Given the description of an element on the screen output the (x, y) to click on. 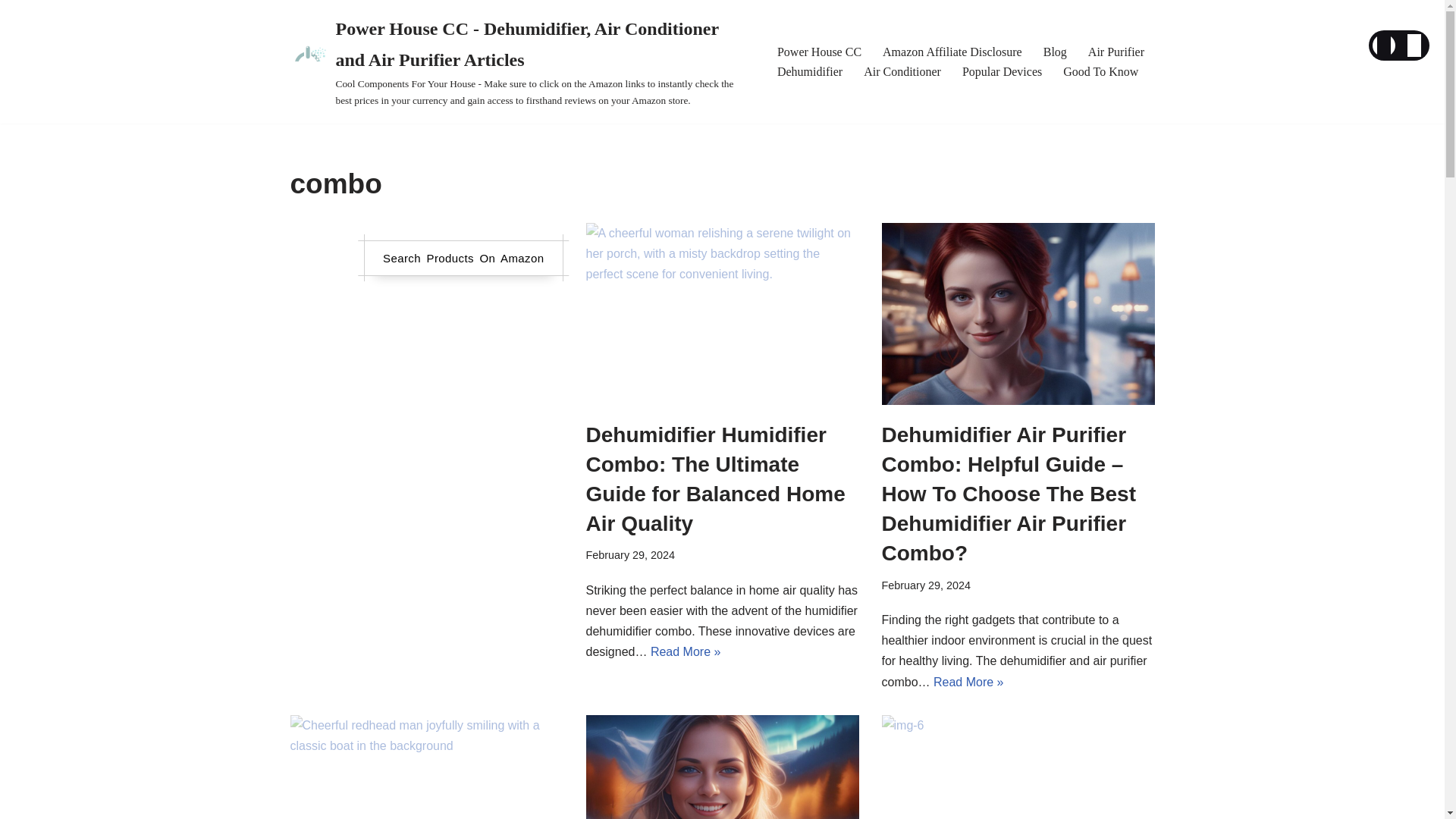
Amazon Affiliate Disclosure (952, 51)
Air Purifier (1115, 51)
Air Conditioner (901, 71)
Popular Devices (1002, 71)
Search Products On Amazon (463, 258)
Dehumidifier (810, 71)
Blog (1055, 51)
Good To Know (1100, 71)
